Given the description of an element on the screen output the (x, y) to click on. 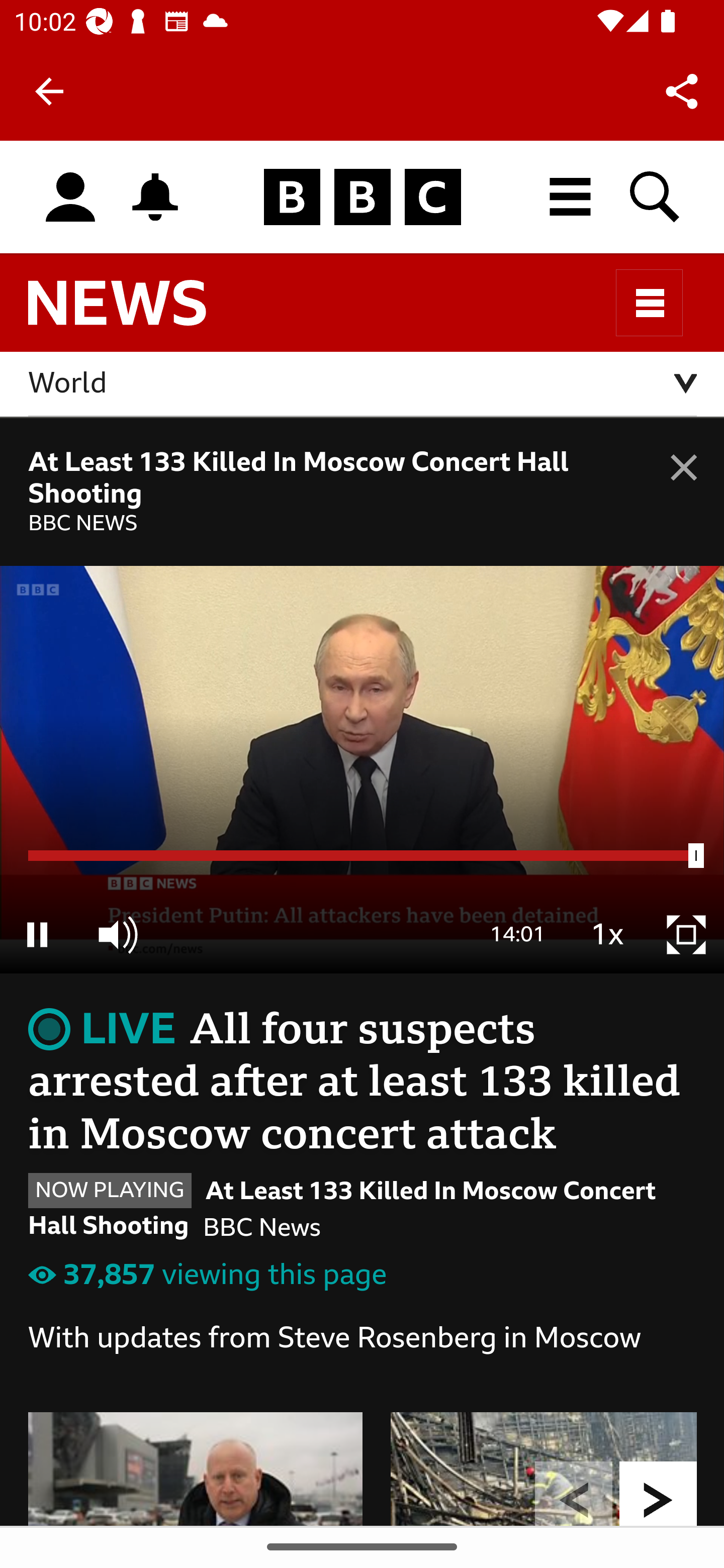
Back (49, 91)
Share (681, 90)
Notifications (155, 197)
All BBC destinations menu (570, 197)
Search BBC (655, 197)
Sign in (70, 198)
Homepage (361, 198)
Sections (650, 302)
BBC News (133, 310)
World (363, 384)
Close player (683, 874)
previous (574, 1493)
next (658, 1493)
